Given the description of an element on the screen output the (x, y) to click on. 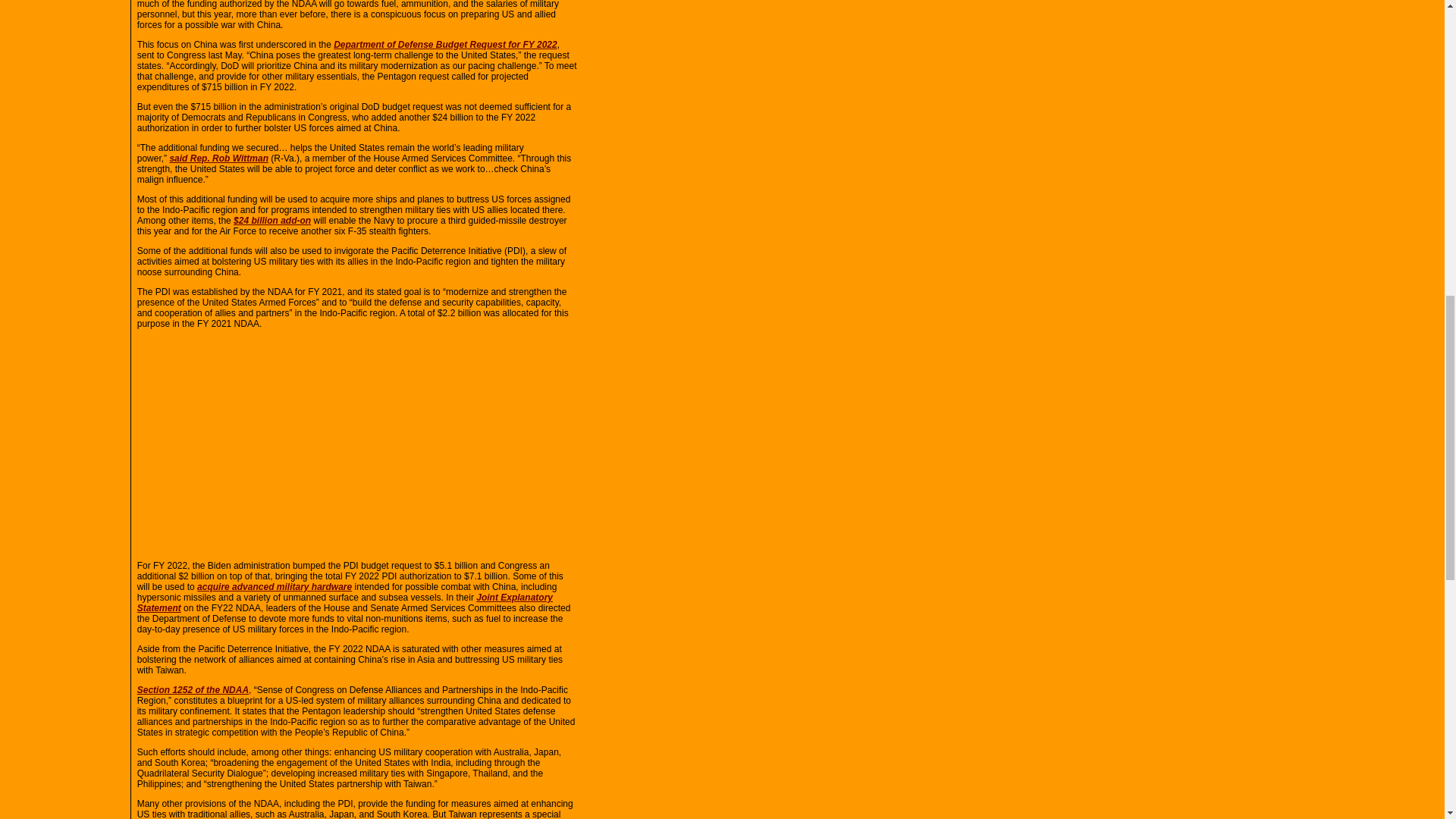
said Rep. Rob Wittman (217, 158)
acquire advanced military hardware (274, 586)
Department of Defense Budget Request for FY 2022 (445, 44)
Section 1252 of the NDAA (192, 689)
Joint Explanatory Statement (344, 602)
